Given the description of an element on the screen output the (x, y) to click on. 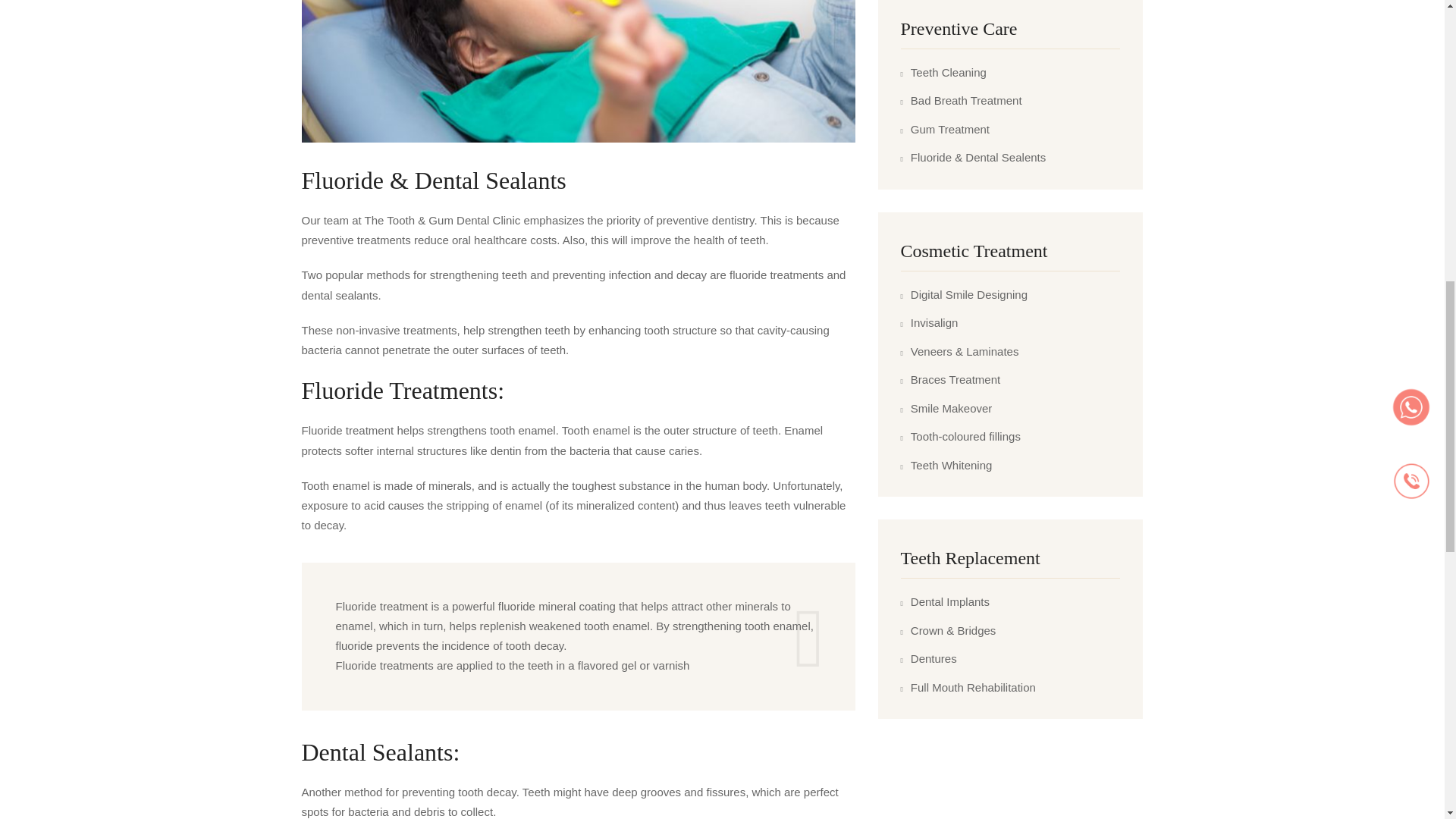
Gum Treatment (945, 129)
Bad Breath Treatment (961, 100)
Braces Treatment (951, 380)
Teeth Cleaning (944, 72)
Tooth-coloured fillings (960, 436)
Digital Smile Designing (964, 294)
Smile Makeover (946, 408)
Invisalign (929, 323)
